Given the description of an element on the screen output the (x, y) to click on. 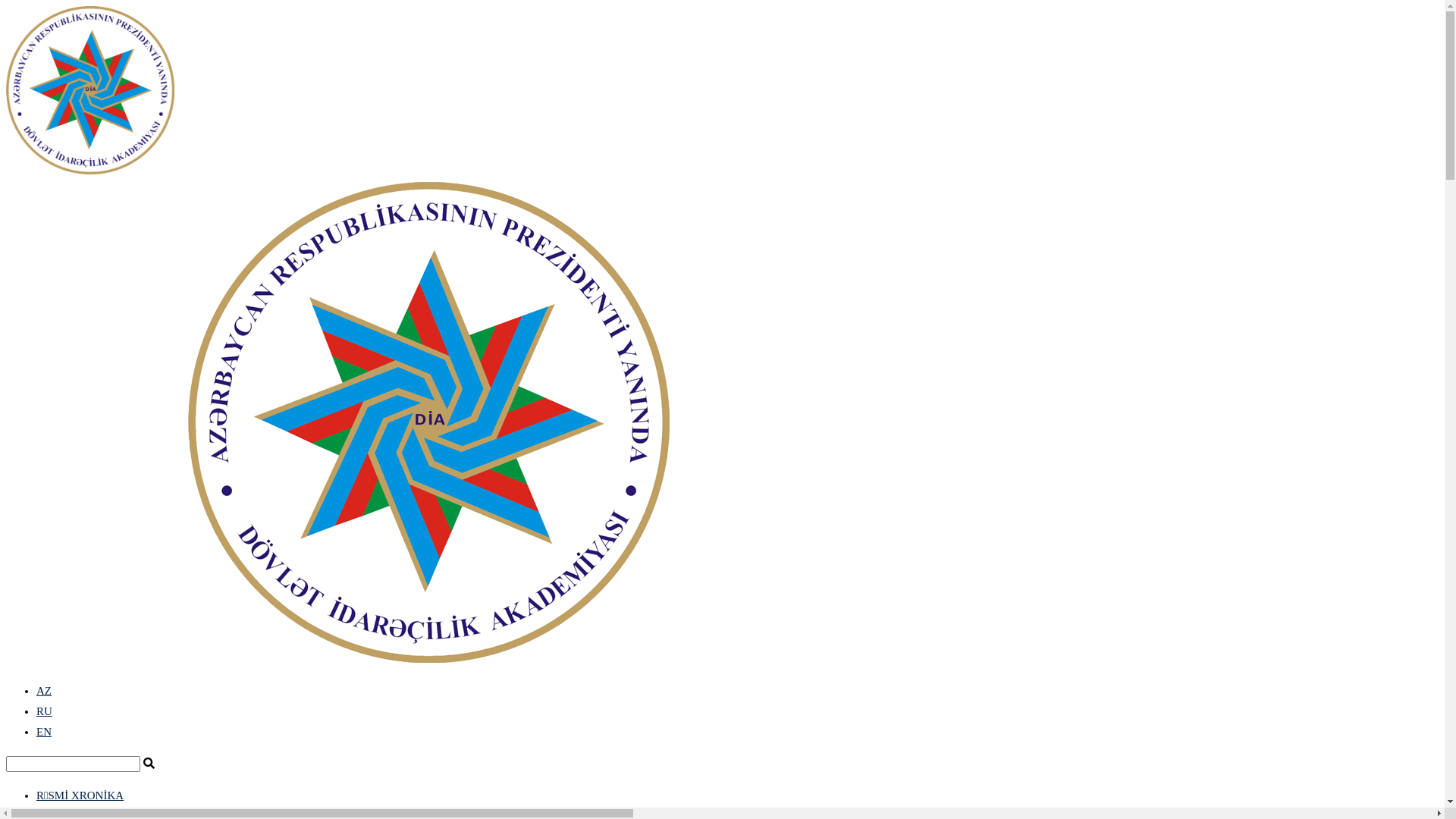
RU Element type: text (44, 711)
EN Element type: text (43, 731)
Search Element type: hover (73, 763)
AZ Element type: text (43, 690)
